Given the description of an element on the screen output the (x, y) to click on. 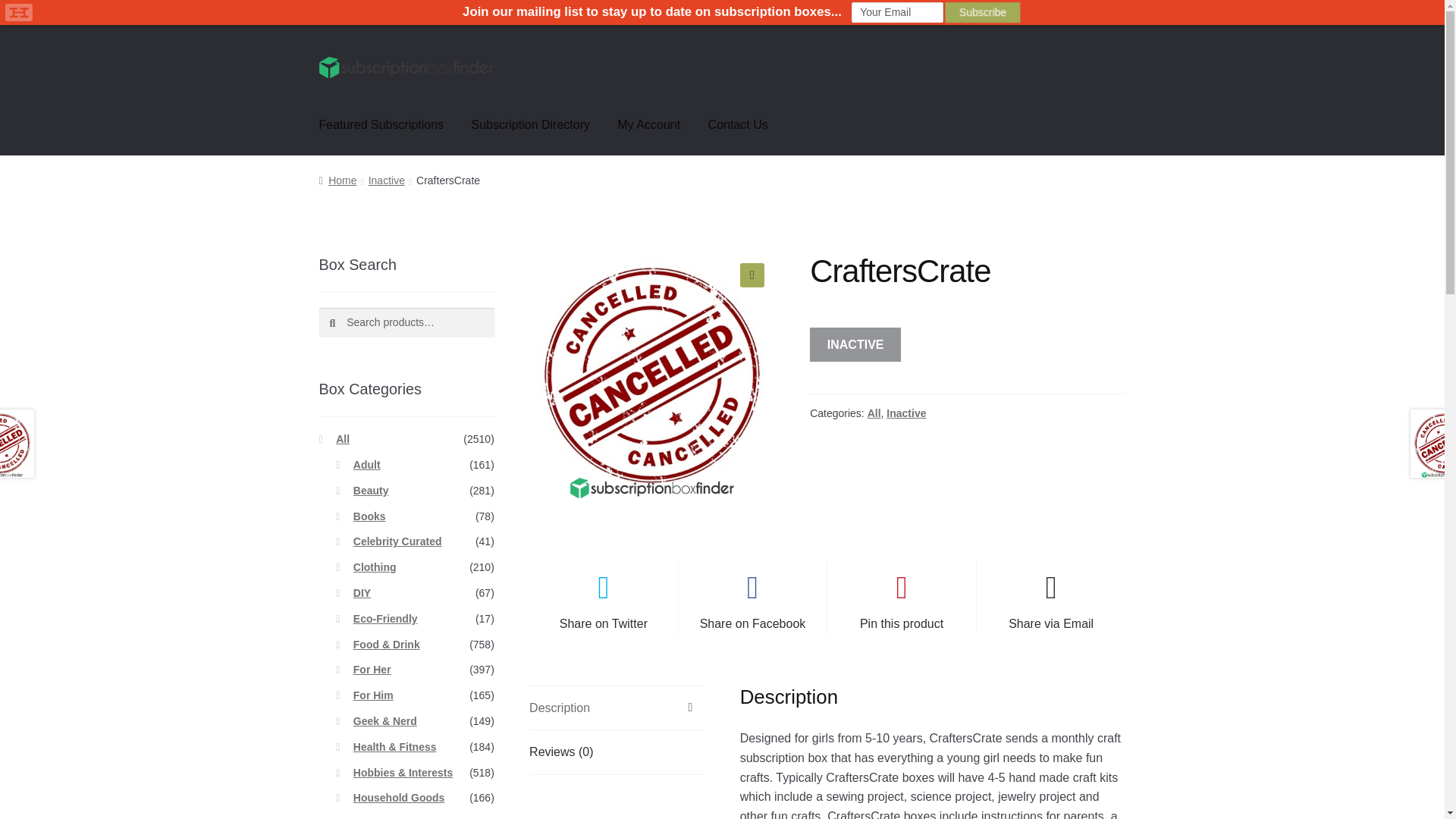
Share on Twitter (603, 597)
Books (369, 515)
Home (337, 180)
All (342, 439)
Pin this product (901, 597)
Cancelled (651, 374)
Description (616, 708)
INACTIVE (855, 344)
Inactive (906, 413)
My Account (649, 124)
Contact Us (737, 124)
Subscription Directory (531, 124)
Featured Subscriptions (382, 124)
Share on Facebook (752, 597)
